Given the description of an element on the screen output the (x, y) to click on. 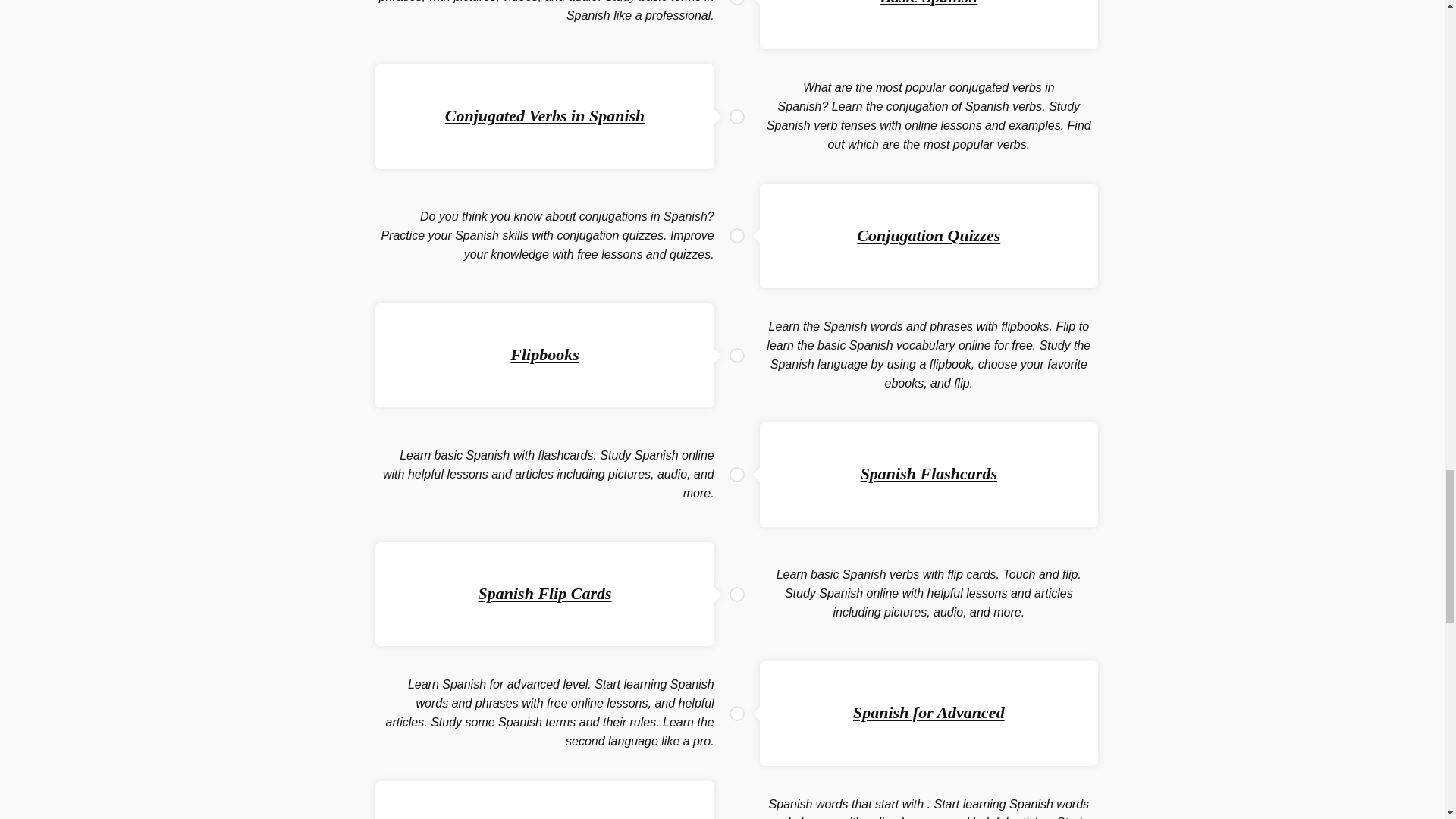
Flipbooks (544, 353)
Conjugation Quizzes (928, 235)
Basic Spanish (927, 2)
Conjugated Verbs in Spanish (545, 115)
Spanish Flashcards (928, 473)
Spanish for Advanced (928, 711)
Spanish Flip Cards (545, 592)
